Given the description of an element on the screen output the (x, y) to click on. 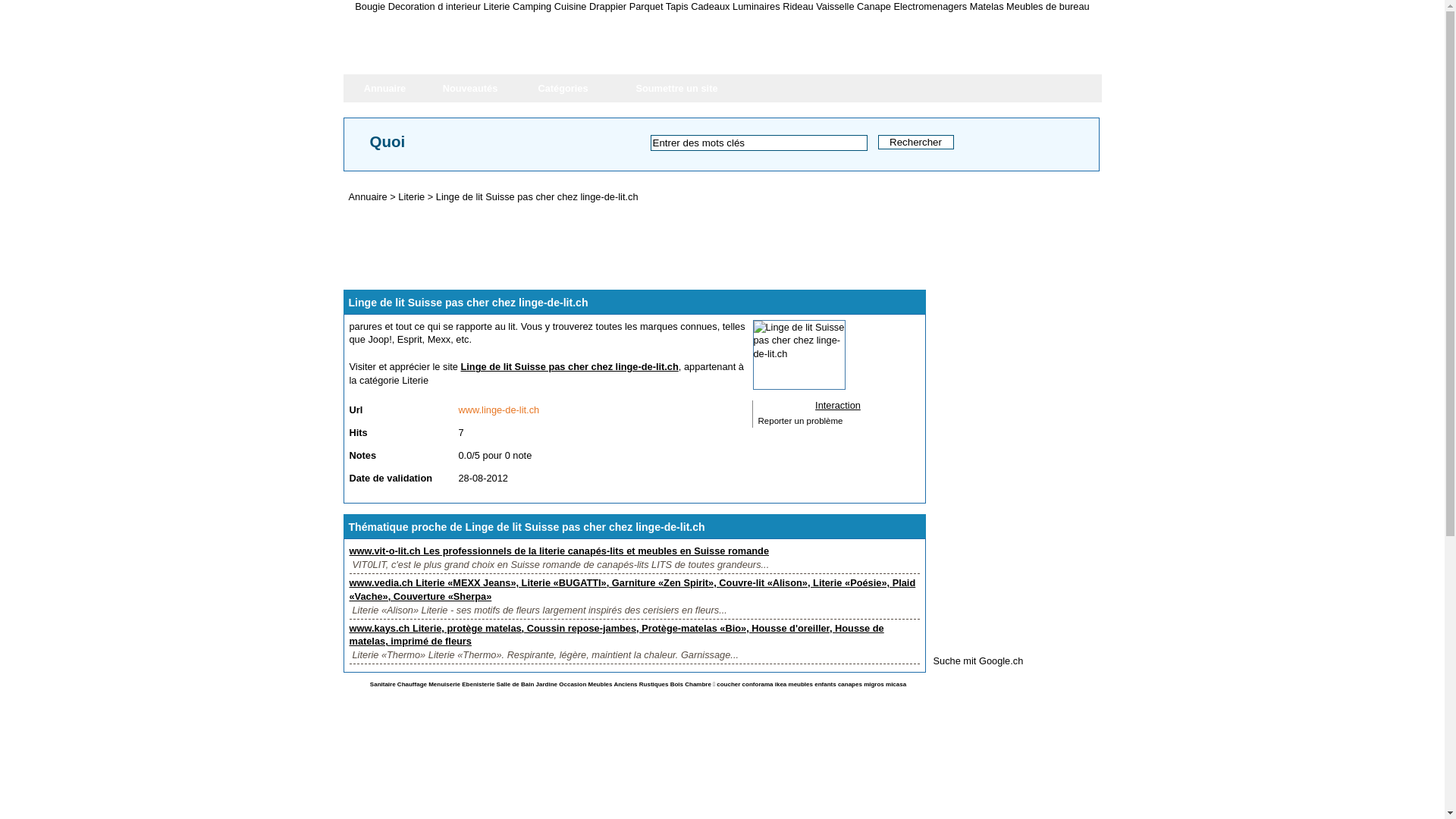
Literie Element type: text (414, 379)
Annuaire Element type: text (384, 88)
Literie Element type: text (411, 196)
Advertisement Element type: hover (1046, 409)
Linge de lit Suisse pas cher chez linge-de-lit.ch Element type: text (537, 196)
Advertisement Element type: hover (618, 245)
Annuaire Element type: text (367, 196)
Suche mit Google.ch Element type: text (977, 660)
Linge de lit Suisse pas cher chez linge-de-lit.ch Element type: text (569, 366)
Soumettre un site Element type: text (676, 88)
Rechercher Element type: text (915, 141)
